Given the description of an element on the screen output the (x, y) to click on. 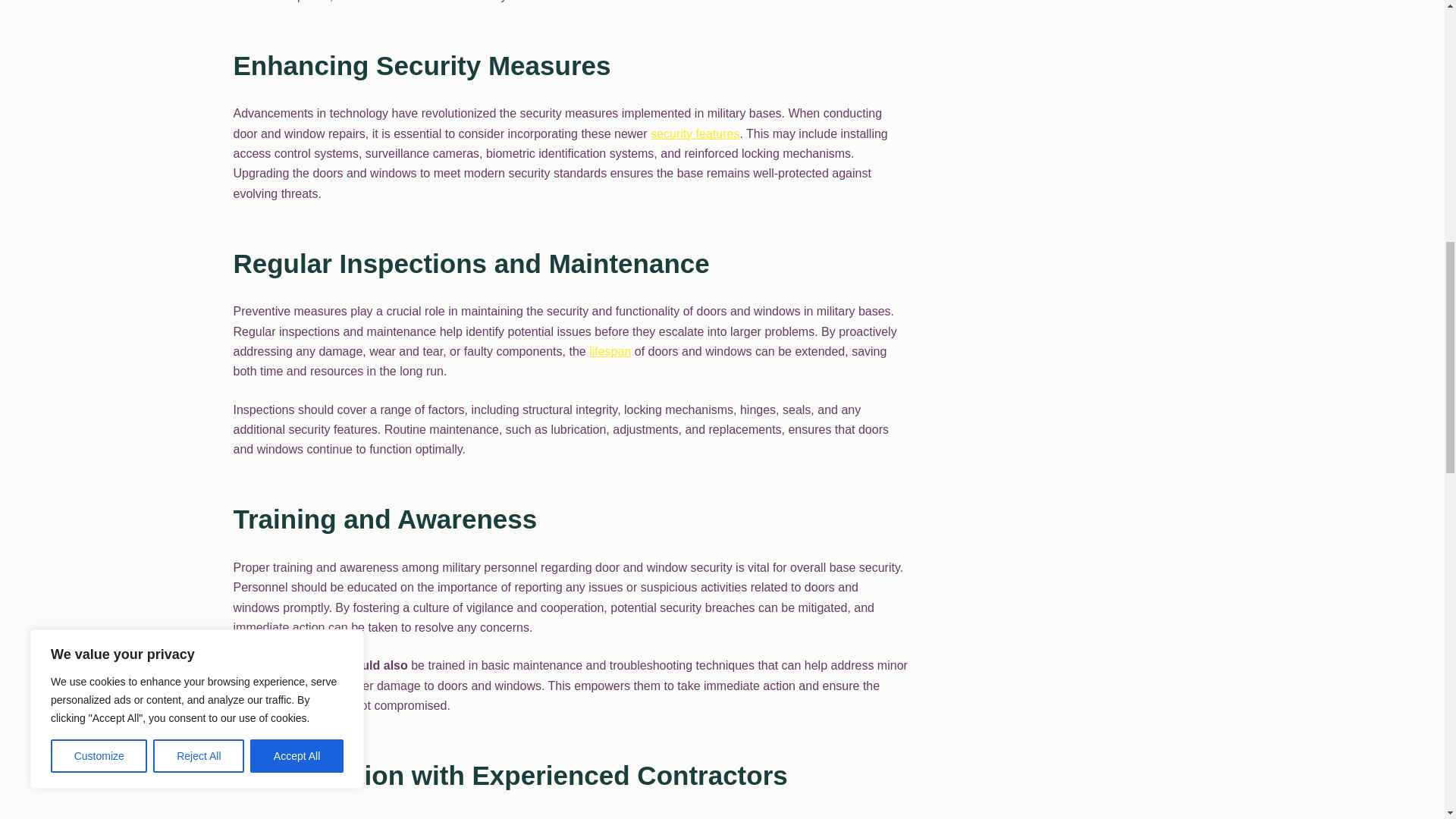
security features (694, 133)
lifespan (609, 350)
